Given the description of an element on the screen output the (x, y) to click on. 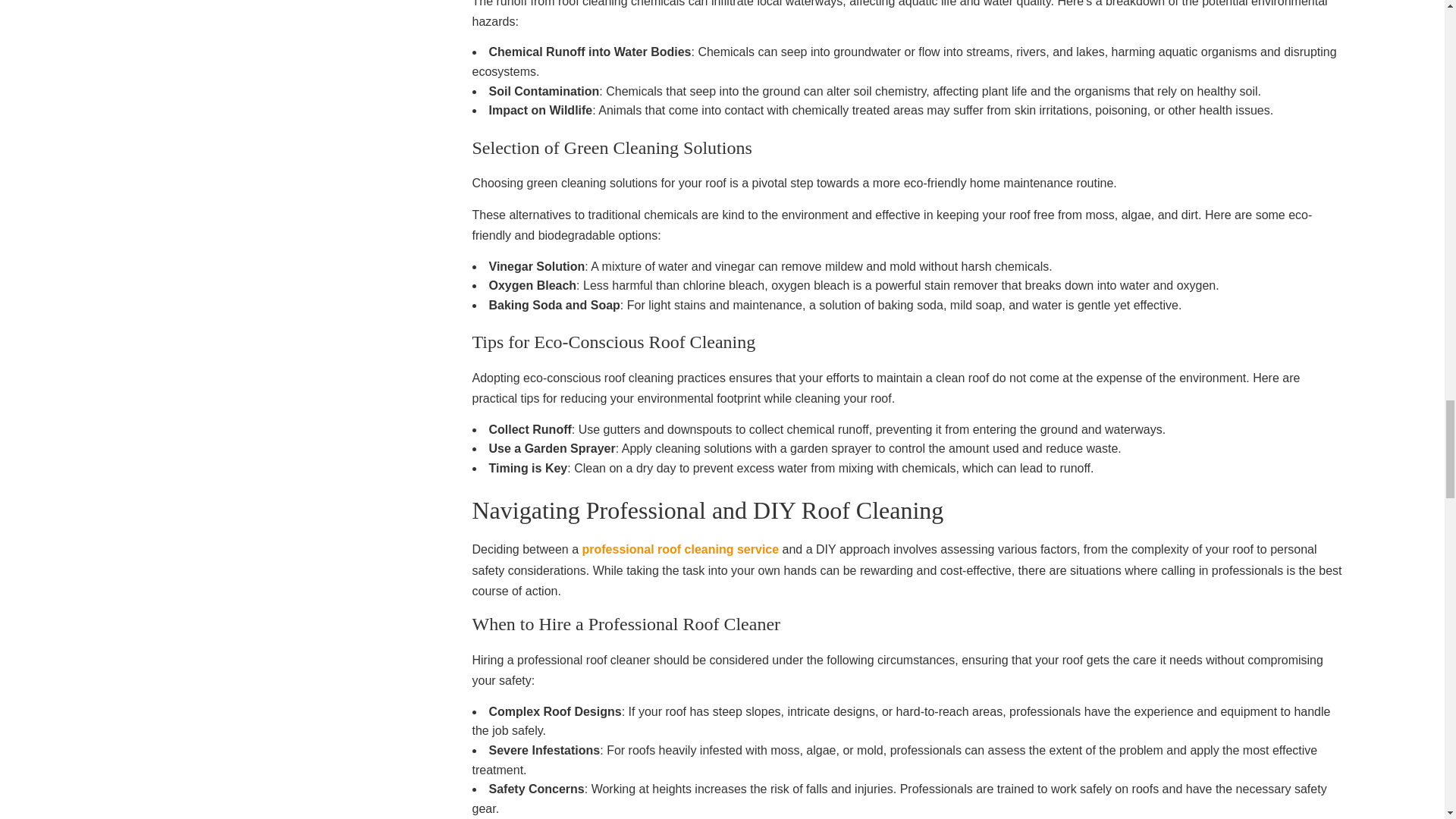
professional roof cleaning service (679, 549)
